Given the description of an element on the screen output the (x, y) to click on. 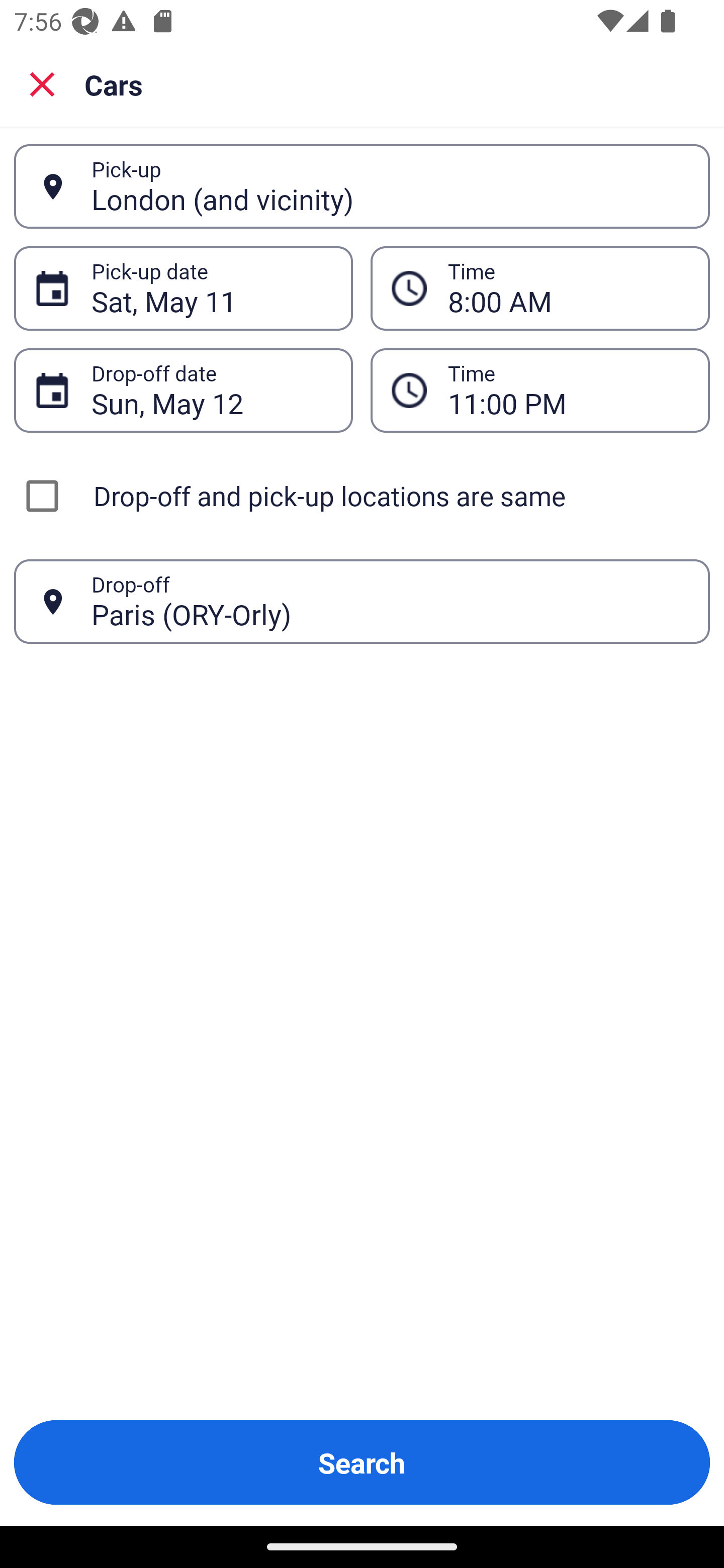
Close search screen (41, 83)
London (and vicinity) Pick-up (361, 186)
London (and vicinity) (389, 186)
Sat, May 11 Pick-up date (183, 288)
8:00 AM (540, 288)
Sat, May 11 (211, 288)
8:00 AM (568, 288)
Sun, May 12 Drop-off date (183, 390)
11:00 PM (540, 390)
Sun, May 12 (211, 390)
11:00 PM (568, 390)
Drop-off and pick-up locations are same (361, 495)
Paris (ORY-Orly) Drop-off (361, 601)
Paris (ORY-Orly) (389, 601)
Search Button Search (361, 1462)
